Given the description of an element on the screen output the (x, y) to click on. 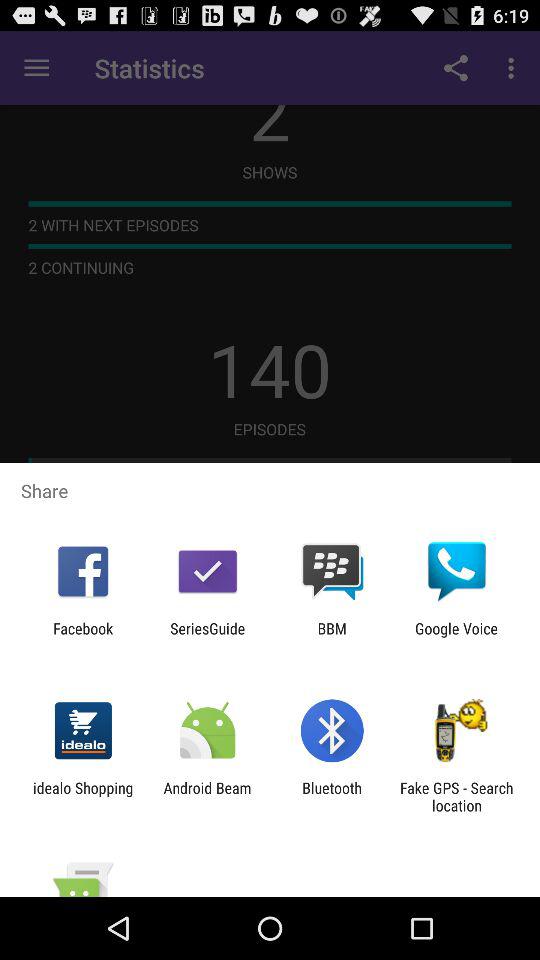
open the item next to seriesguide app (331, 637)
